Given the description of an element on the screen output the (x, y) to click on. 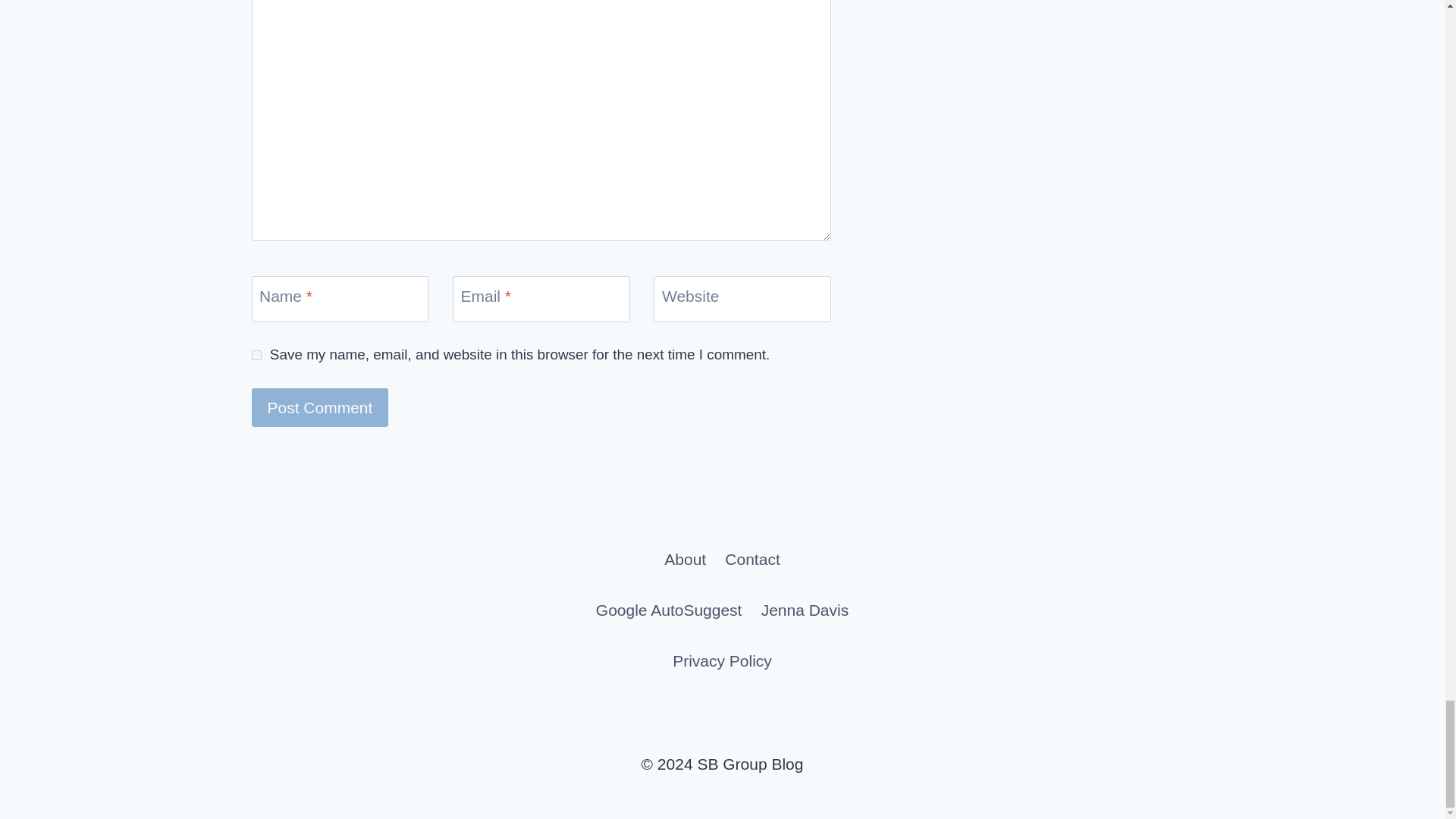
yes (256, 355)
Post Comment (319, 406)
